Given the description of an element on the screen output the (x, y) to click on. 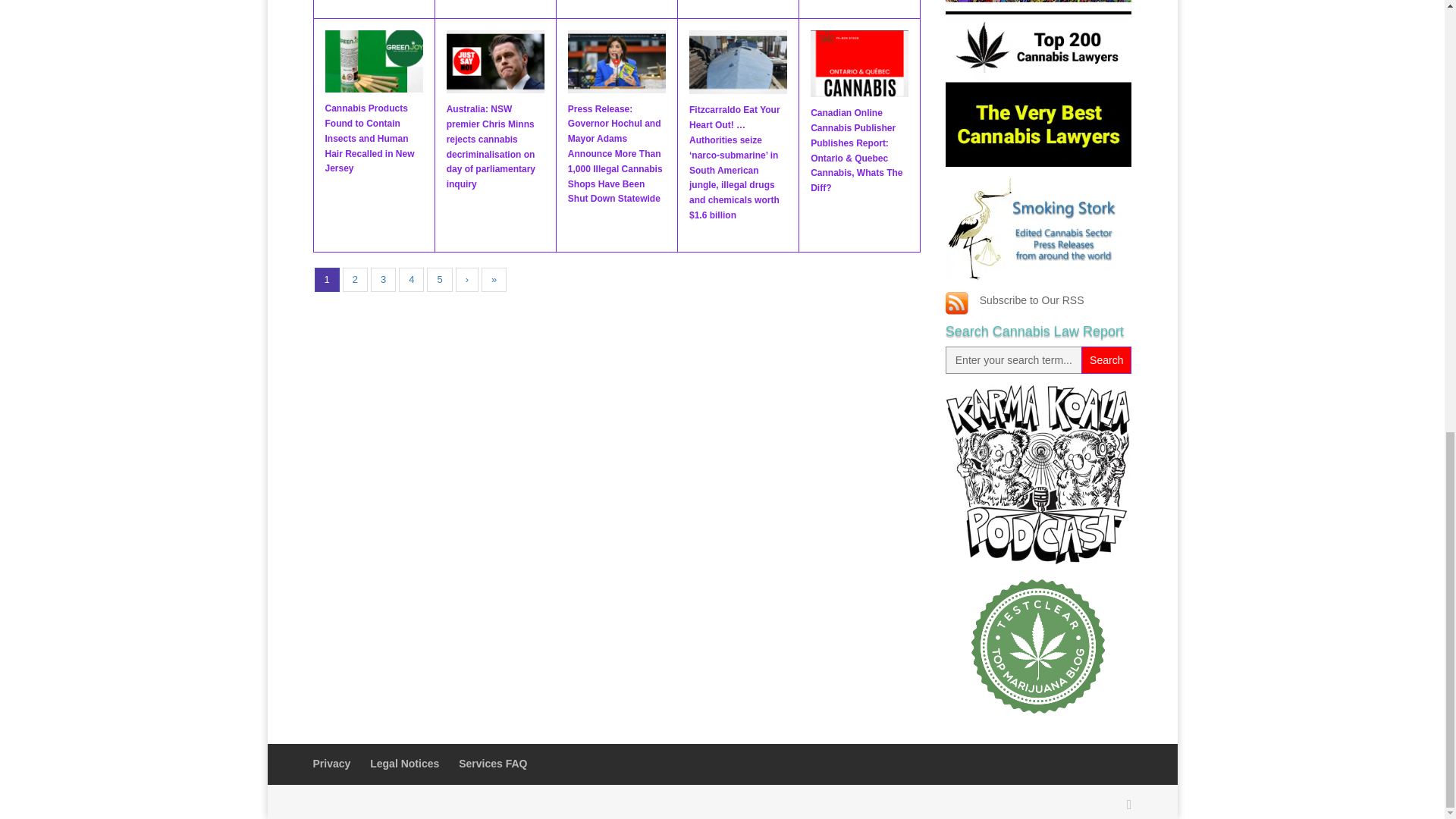
Go to last page (493, 279)
Current page is 1 (326, 279)
Search (1106, 359)
Go to page 5 (438, 279)
Go to next page (467, 279)
Go to page 4 (410, 279)
Go to page 3 (383, 279)
Search (1106, 359)
Go to page 2 (355, 279)
